Given the description of an element on the screen output the (x, y) to click on. 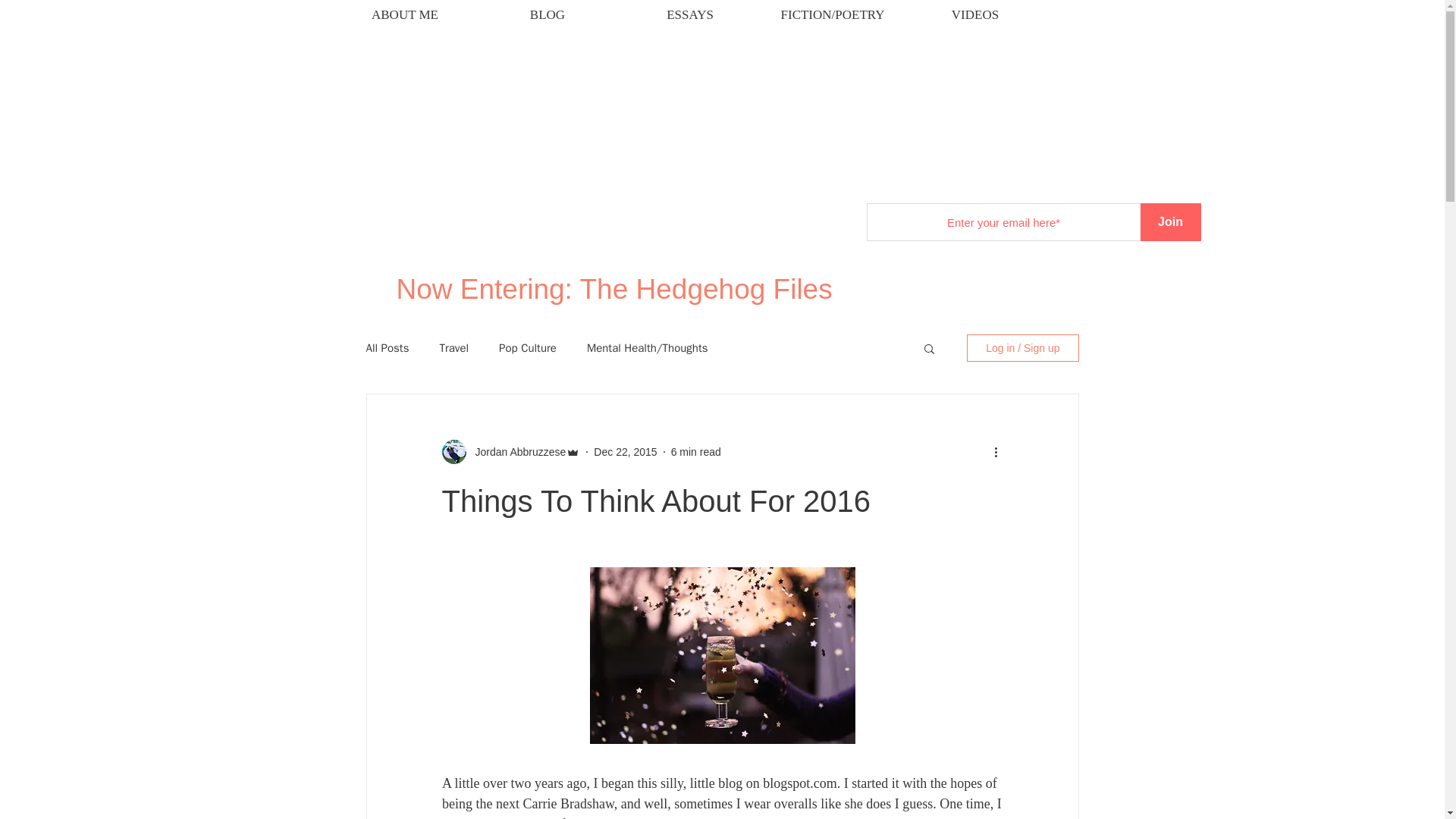
Pop Culture (527, 348)
VIDEOS (952, 15)
Dec 22, 2015 (625, 451)
Travel (453, 348)
ESSAYS (667, 15)
Join (1170, 221)
BLOG (525, 15)
All Posts (387, 348)
ABOUT ME (382, 15)
6 min read (695, 451)
